Given the description of an element on the screen output the (x, y) to click on. 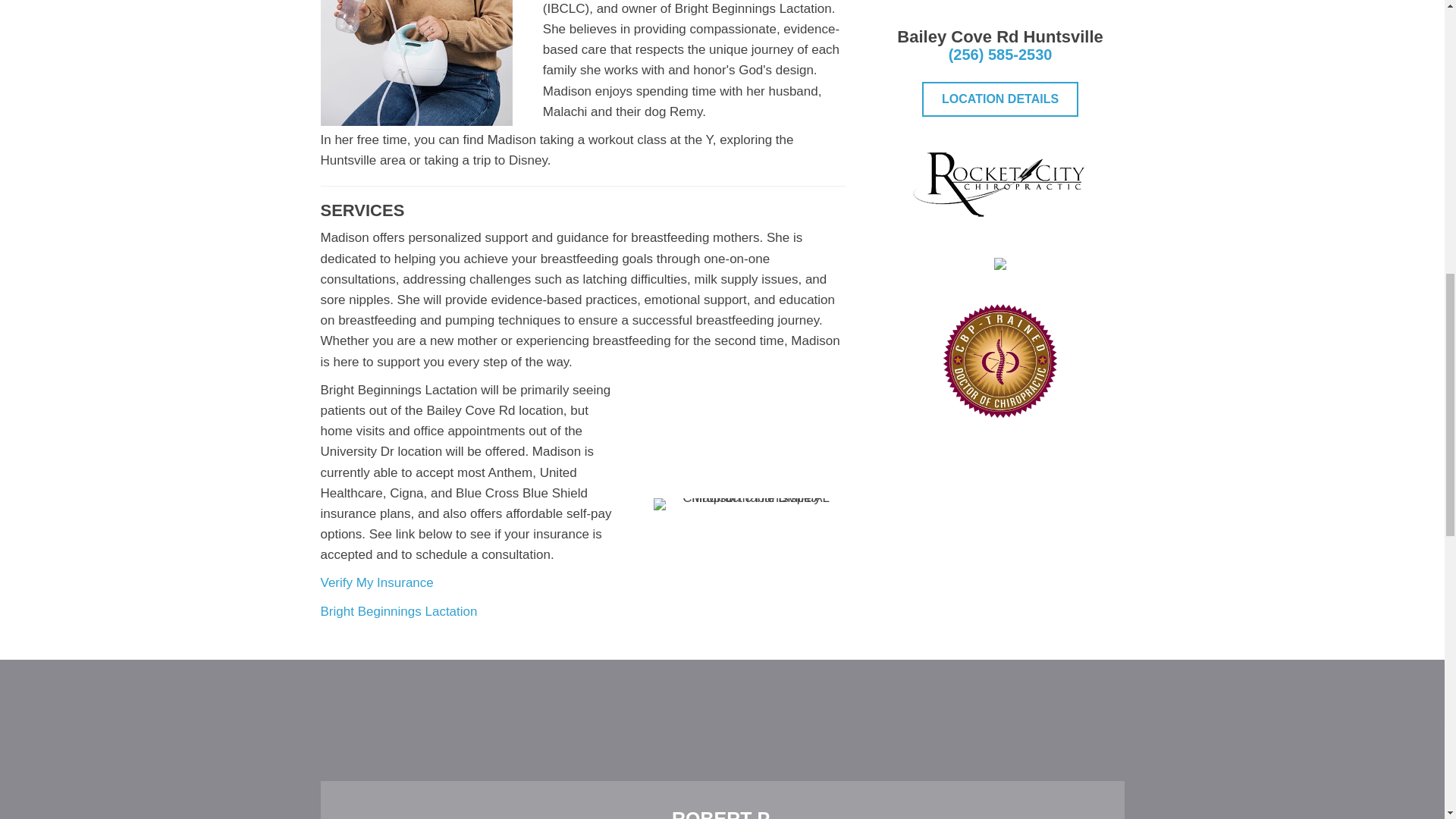
Chiropractic Huntsville AL Madison Table Display (749, 503)
Chiropractic Huntsville AL Rocket City Chiropractic (999, 184)
Chiropractic Huntsville AL Madison with Breast Pump (416, 63)
CBP Badge (1000, 360)
